Given the description of an element on the screen output the (x, y) to click on. 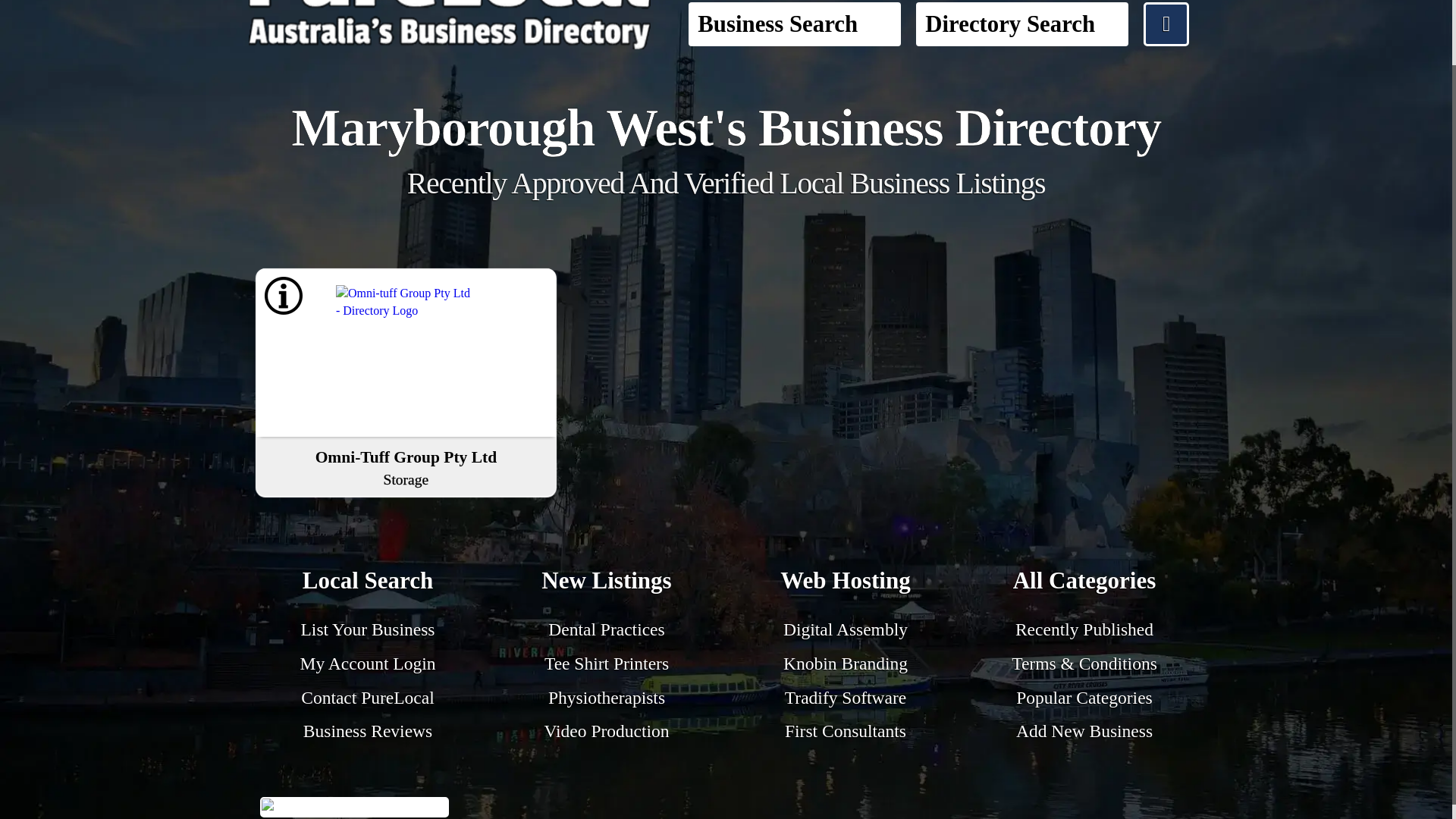
Contact PureLocal (367, 697)
Popular Categories (1083, 697)
New Listings (406, 465)
Business Reviews (606, 583)
Video Production (367, 731)
Tee Shirt Printers (605, 731)
Local Search (606, 663)
Premium Web Hosting in Australia (367, 583)
First Consultants (845, 583)
Recently Published (844, 731)
List Your Business (1083, 629)
Knobin Branding (368, 629)
Add New Business (845, 663)
My Account Login (1084, 731)
